Given the description of an element on the screen output the (x, y) to click on. 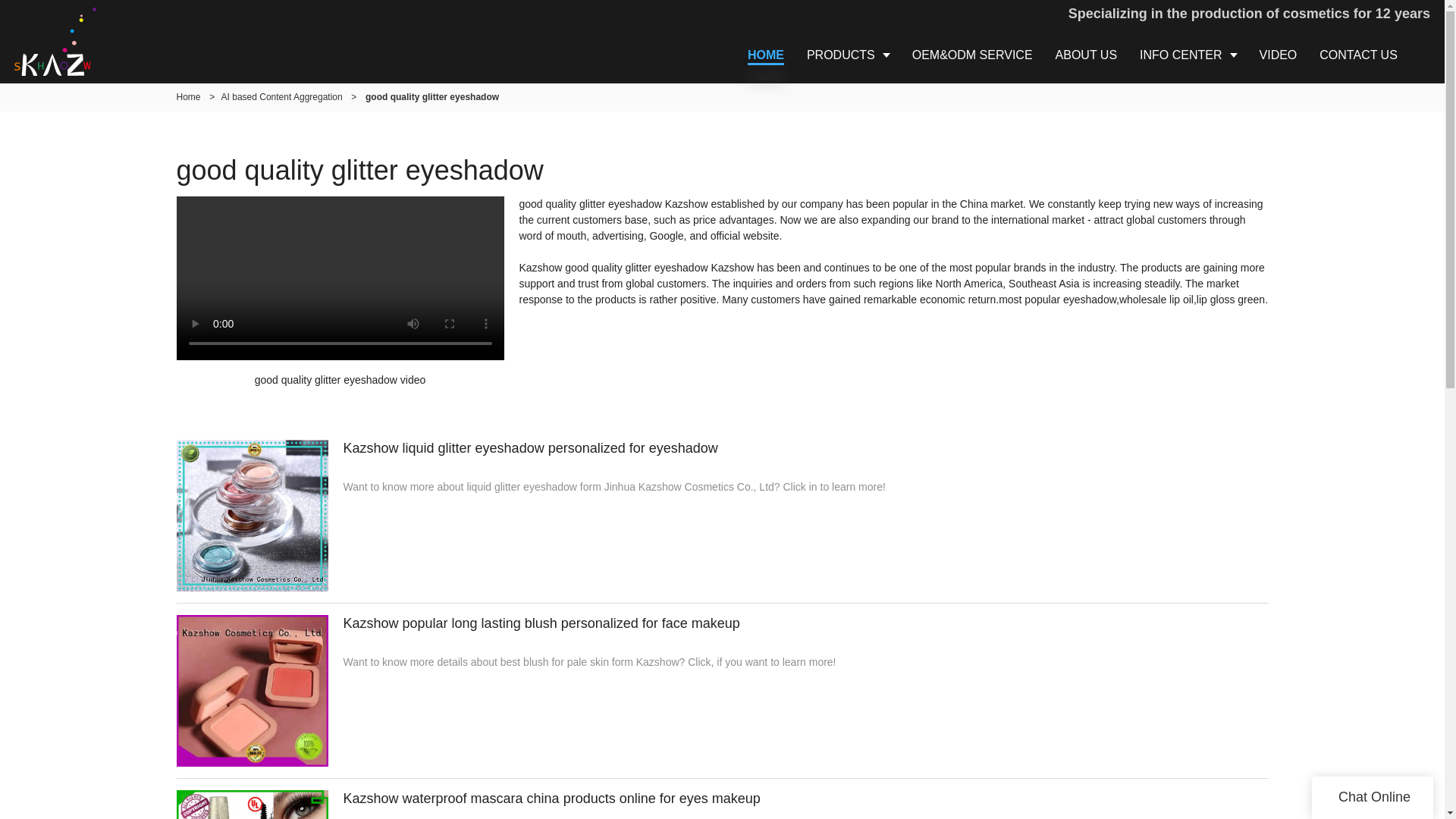
AI based Content Aggregation (281, 96)
ABOUT US (1086, 55)
HOME (765, 55)
INFO CENTER (1187, 55)
VIDEO (1277, 55)
PRODUCTS (847, 55)
Home (188, 96)
